Given the description of an element on the screen output the (x, y) to click on. 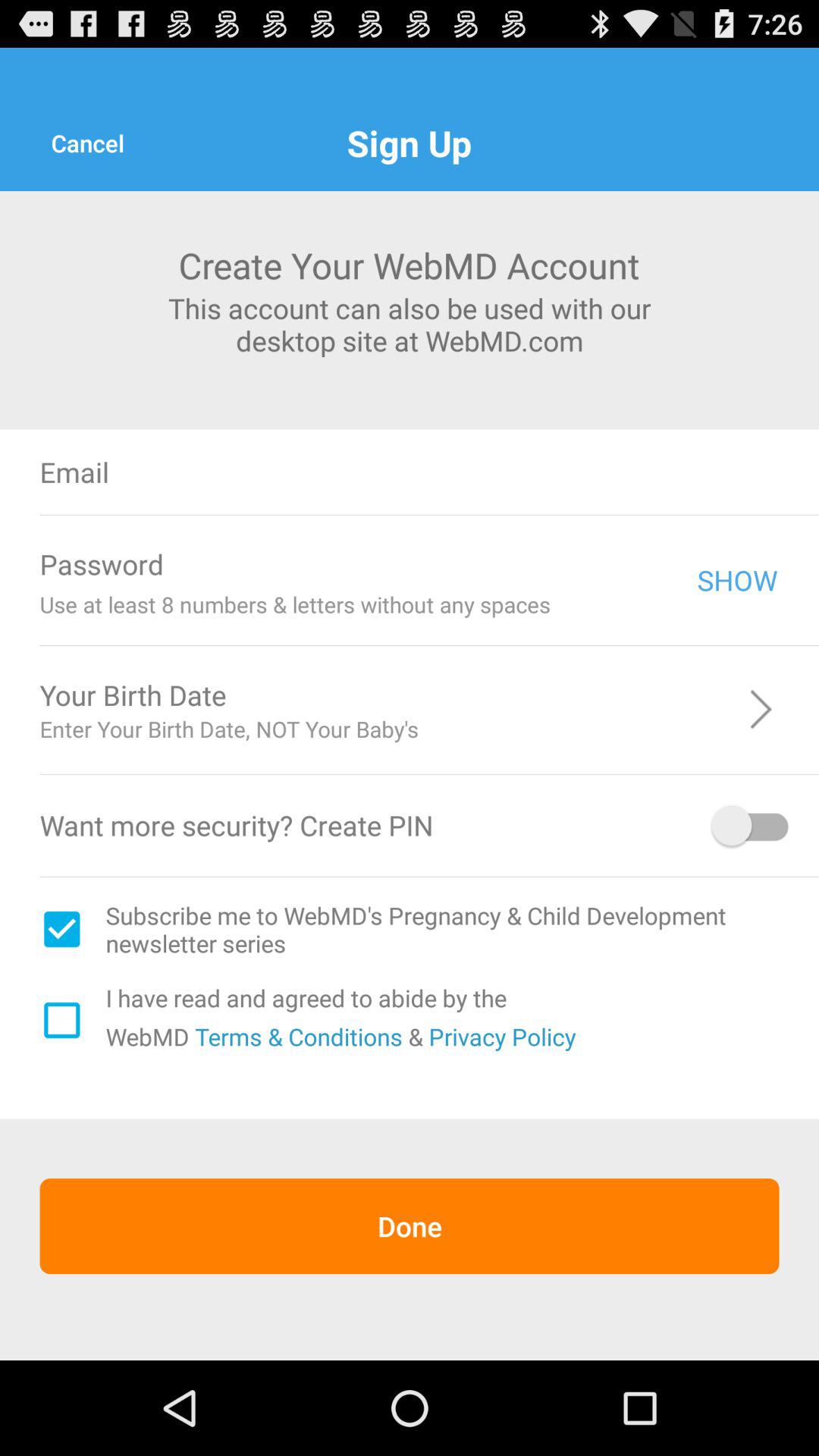
consent (61, 1020)
